Given the description of an element on the screen output the (x, y) to click on. 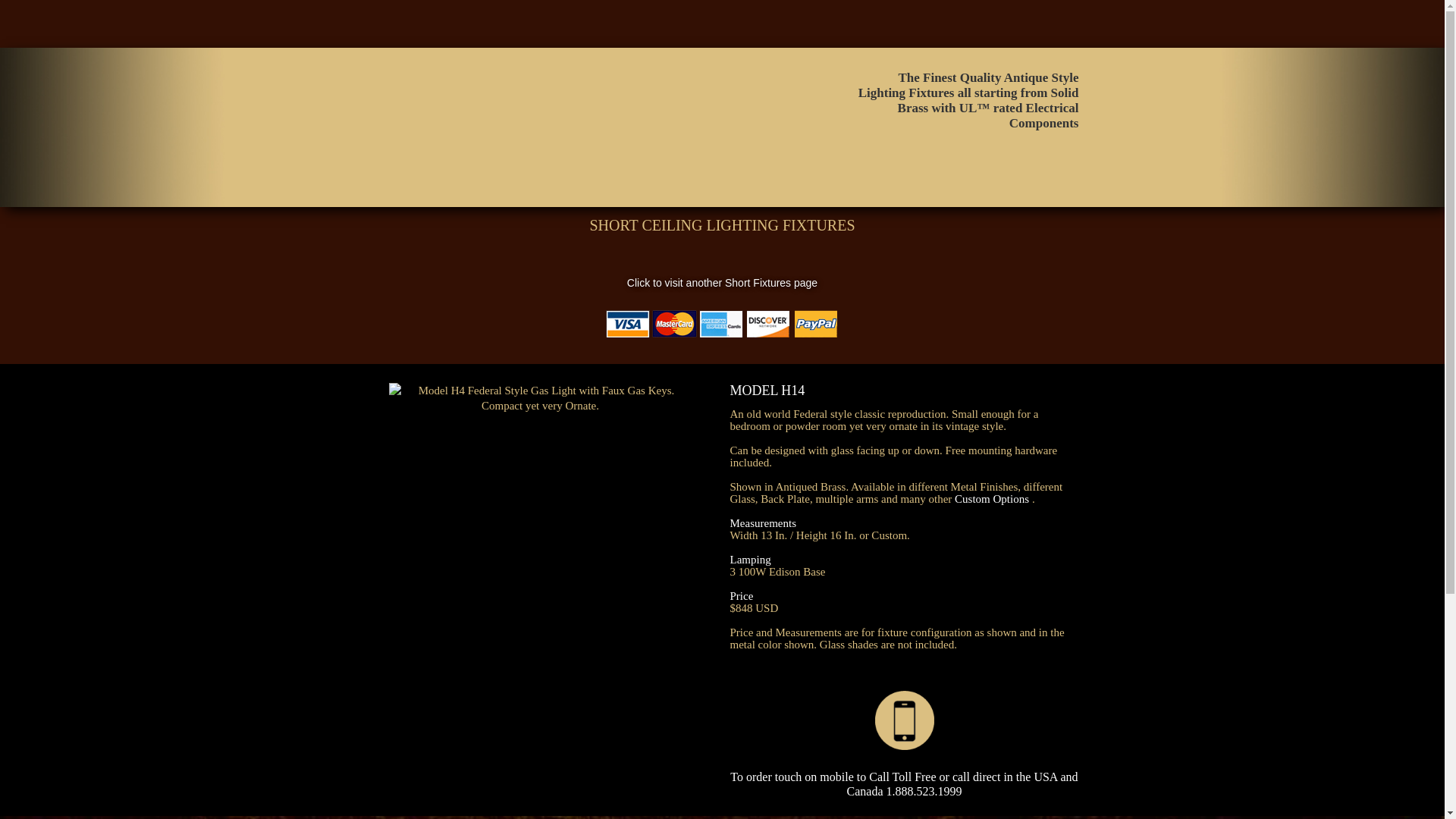
Custom Options Element type: text (991, 498)
